Given the description of an element on the screen output the (x, y) to click on. 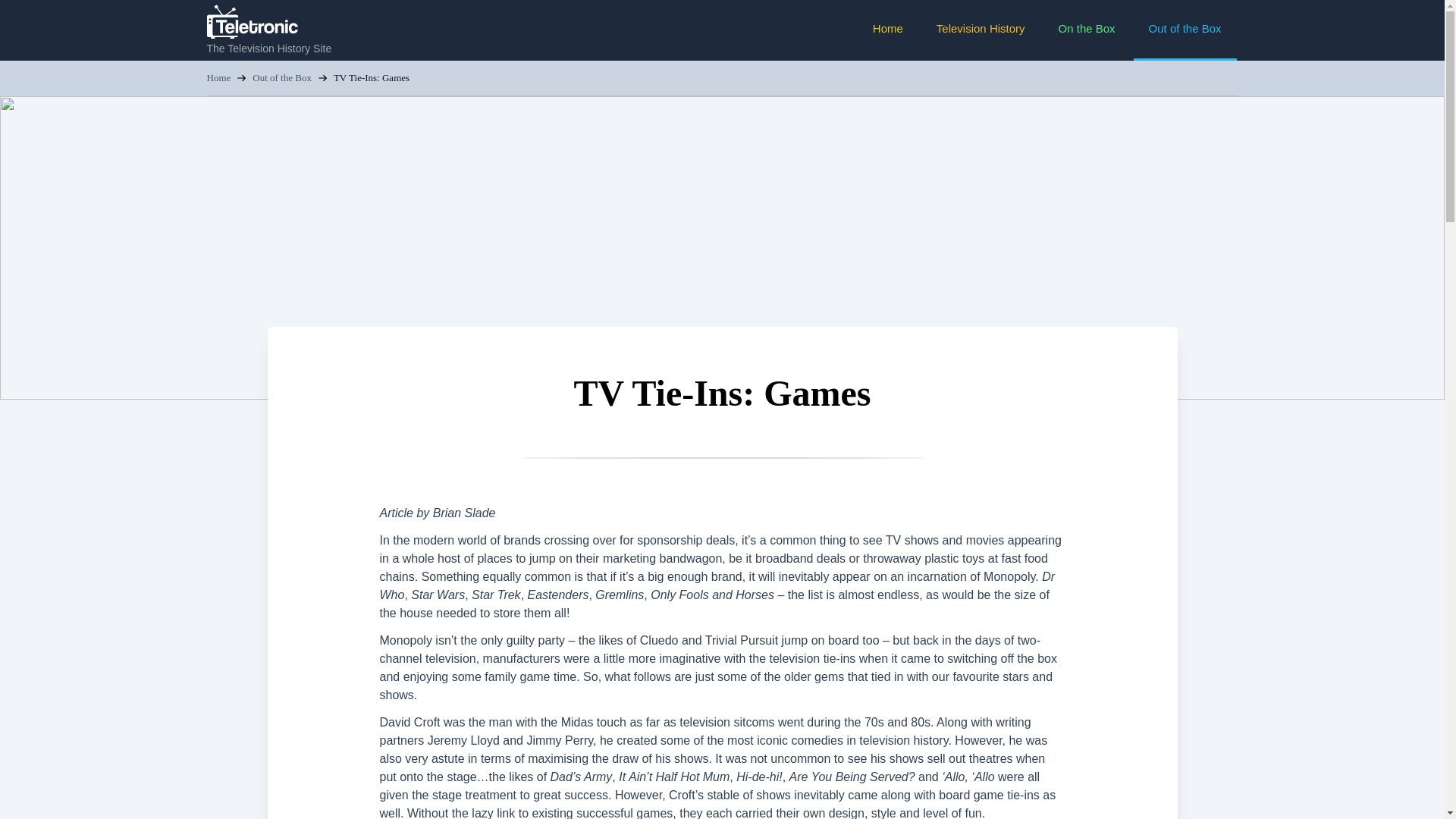
The Television History Site (268, 31)
Home (887, 30)
Out of the Box (281, 77)
On the Box (1087, 30)
Television History (981, 30)
TV Tie-Ins: Games (371, 77)
Out of the Box (1185, 30)
Home (218, 77)
